Given the description of an element on the screen output the (x, y) to click on. 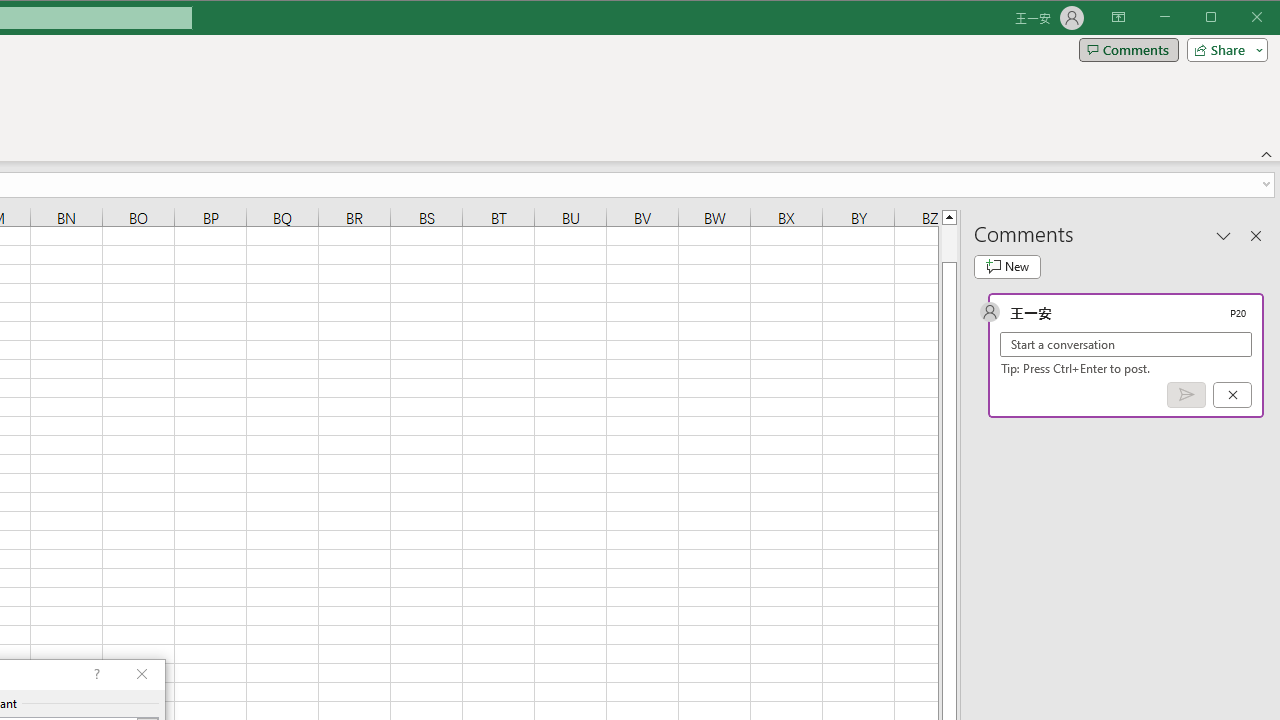
Cancel (1232, 395)
